Given the description of an element on the screen output the (x, y) to click on. 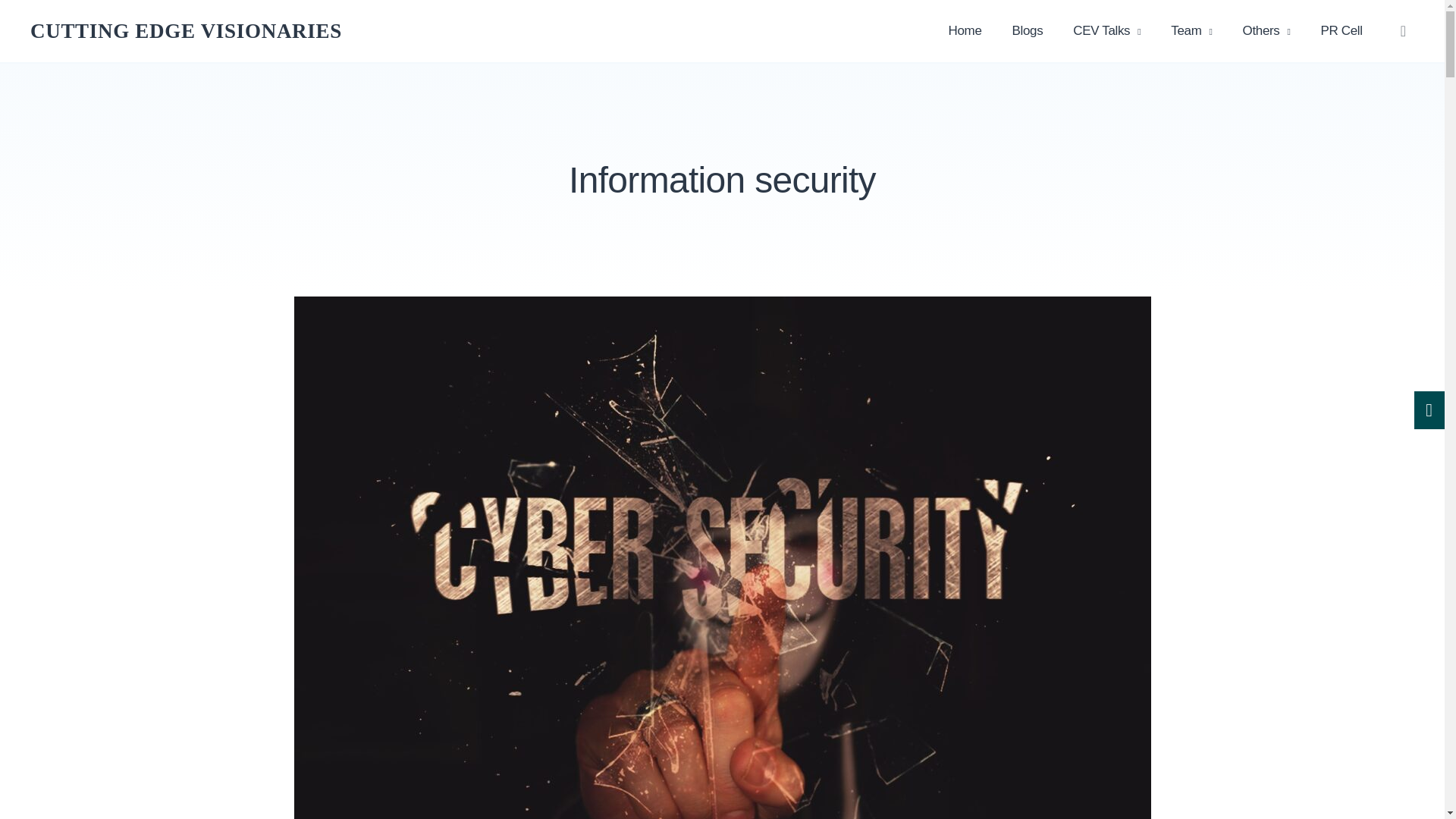
Others (1266, 30)
Home (965, 30)
Blogs (1027, 30)
CUTTING EDGE VISIONARIES (186, 30)
Team (1191, 30)
CEV Talks (1107, 30)
